Given the description of an element on the screen output the (x, y) to click on. 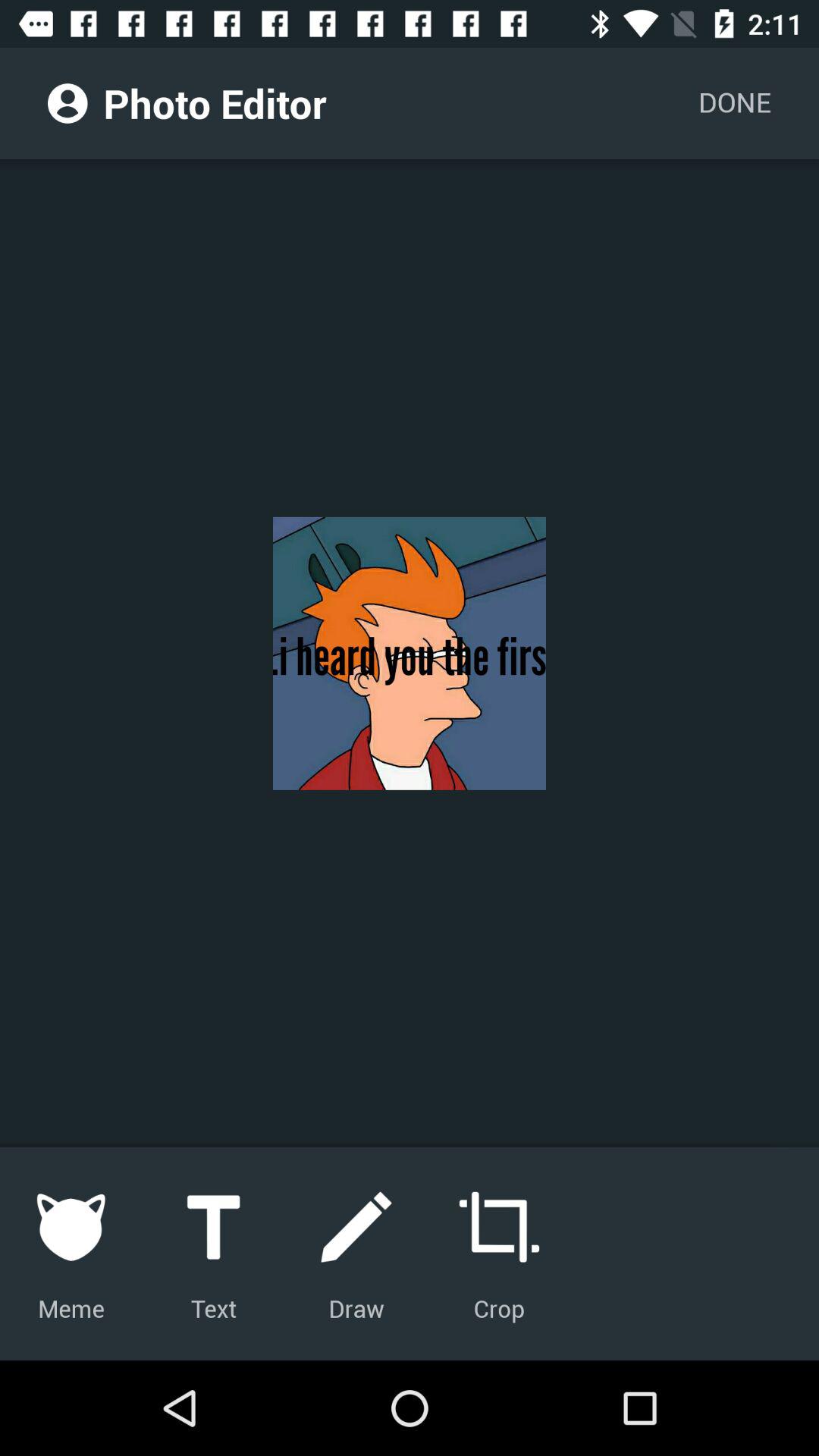
launch the icon next to photo editor icon (67, 103)
